Given the description of an element on the screen output the (x, y) to click on. 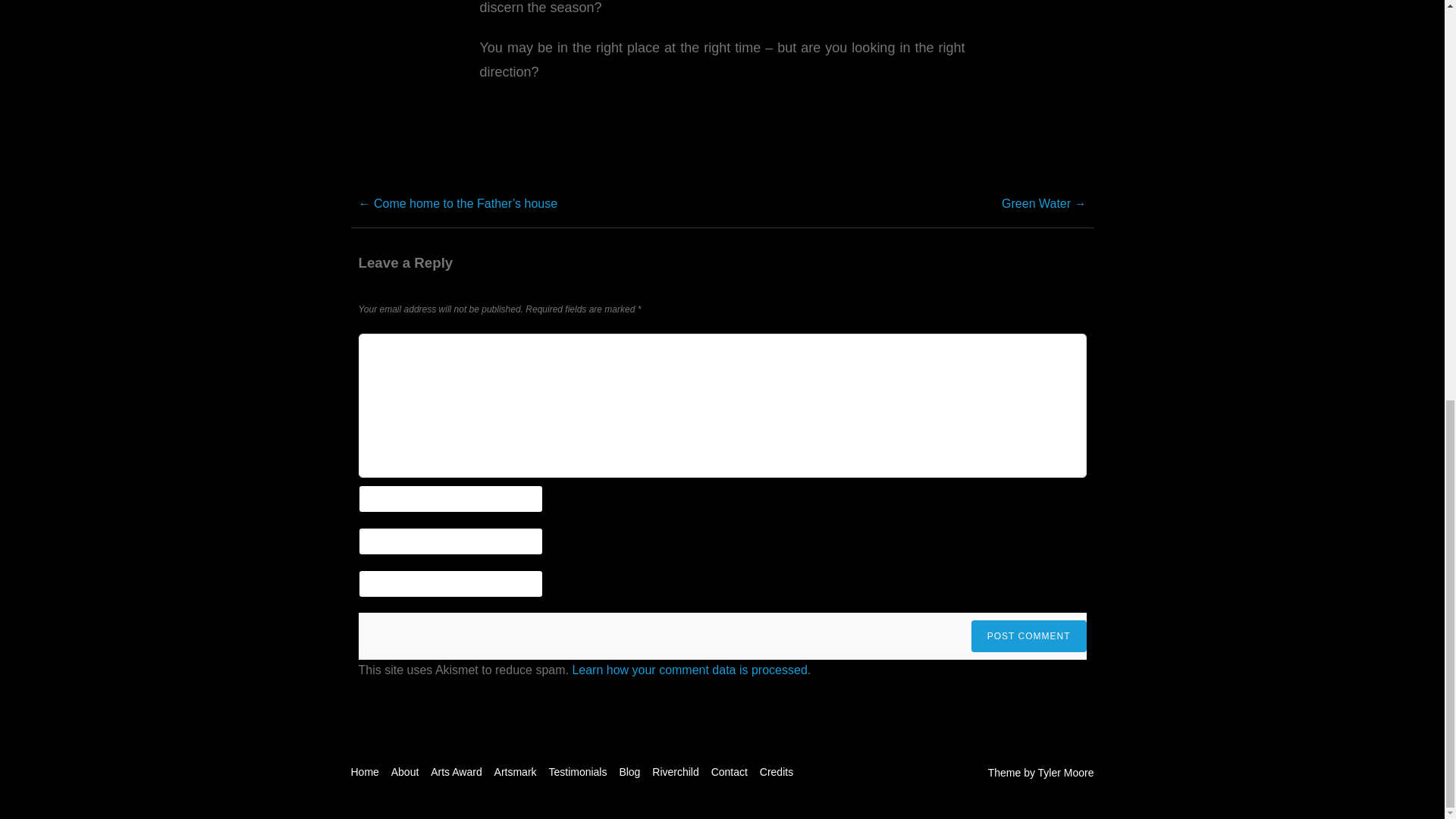
Home (364, 771)
About (405, 771)
Blog (629, 771)
Artsmark (516, 771)
Post Comment (1028, 635)
Tyler Moore (1066, 772)
Testimonials (577, 771)
Learn how your comment data is processed (689, 669)
Arts Award (455, 771)
Contact (729, 771)
